Given the description of an element on the screen output the (x, y) to click on. 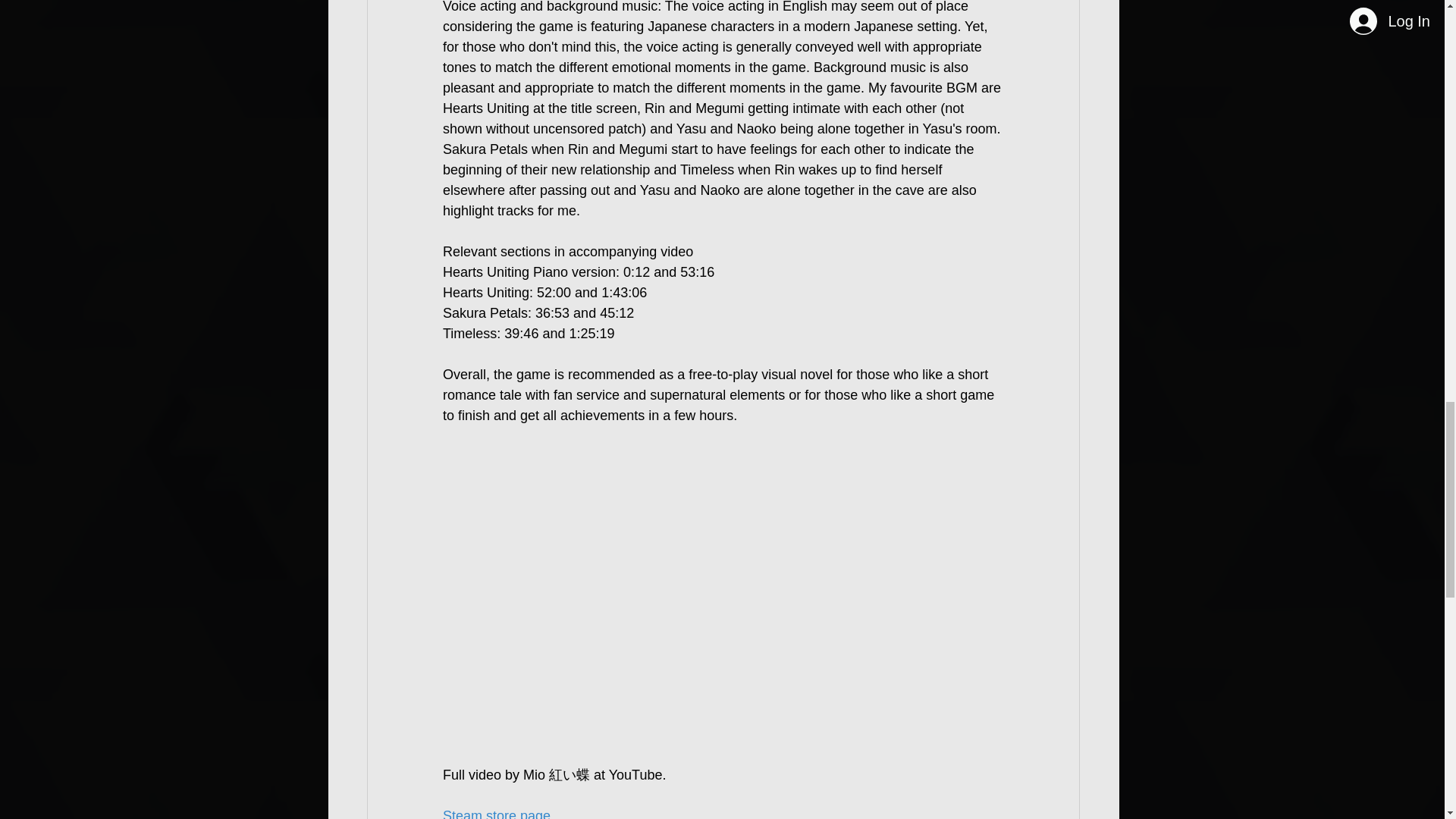
Steam store page (496, 813)
